Given the description of an element on the screen output the (x, y) to click on. 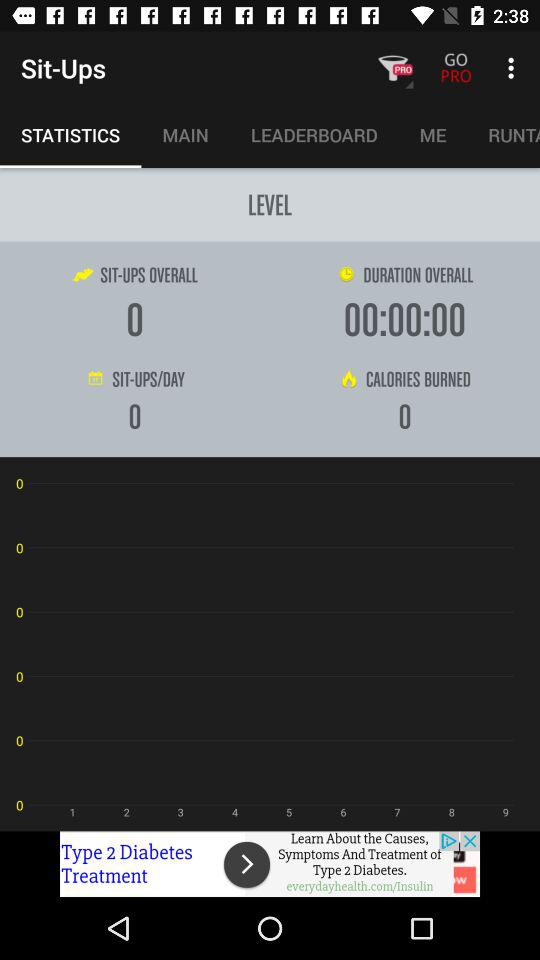
advertising bar (270, 864)
